Given the description of an element on the screen output the (x, y) to click on. 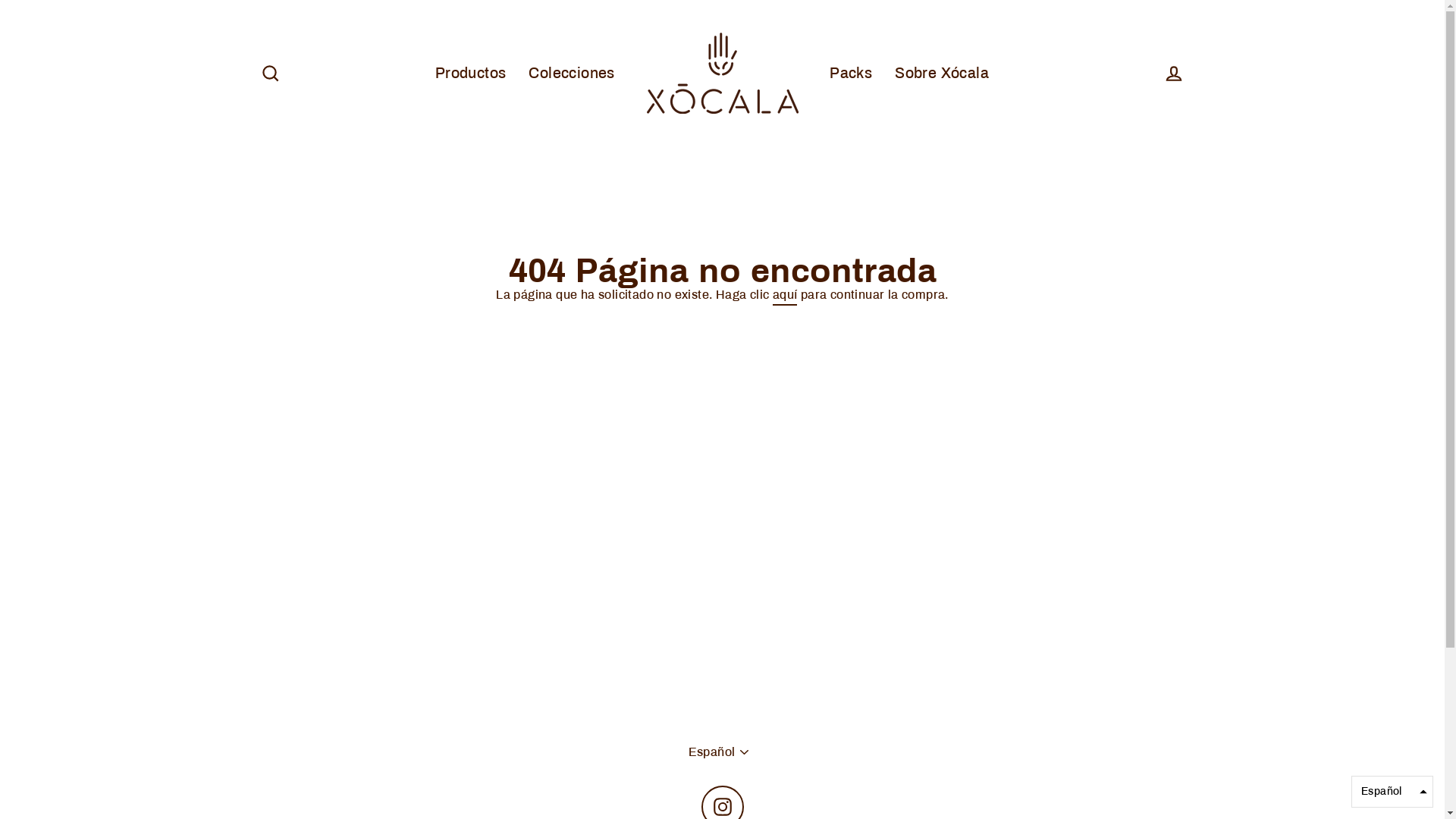
Colecciones Element type: text (571, 73)
Ingresar Element type: text (1173, 72)
Packs Element type: text (850, 73)
Ir directamente al contenido Element type: text (0, 0)
Buscar Element type: text (269, 72)
Productos Element type: text (470, 73)
